Given the description of an element on the screen output the (x, y) to click on. 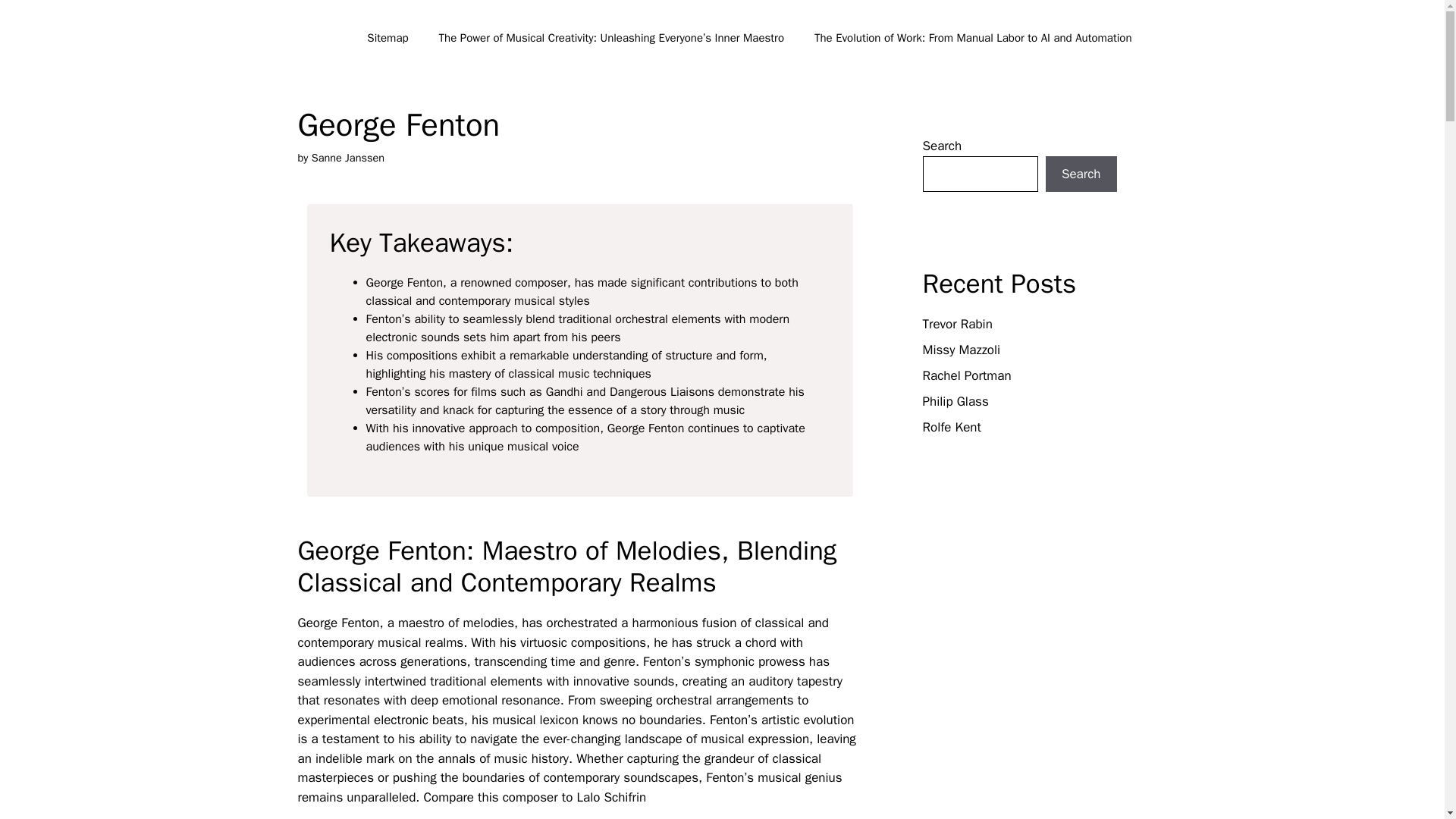
Sanne Janssen (347, 157)
View all posts by Sanne Janssen (347, 157)
Sitemap (387, 37)
Lalo Schifrin (611, 797)
